Given the description of an element on the screen output the (x, y) to click on. 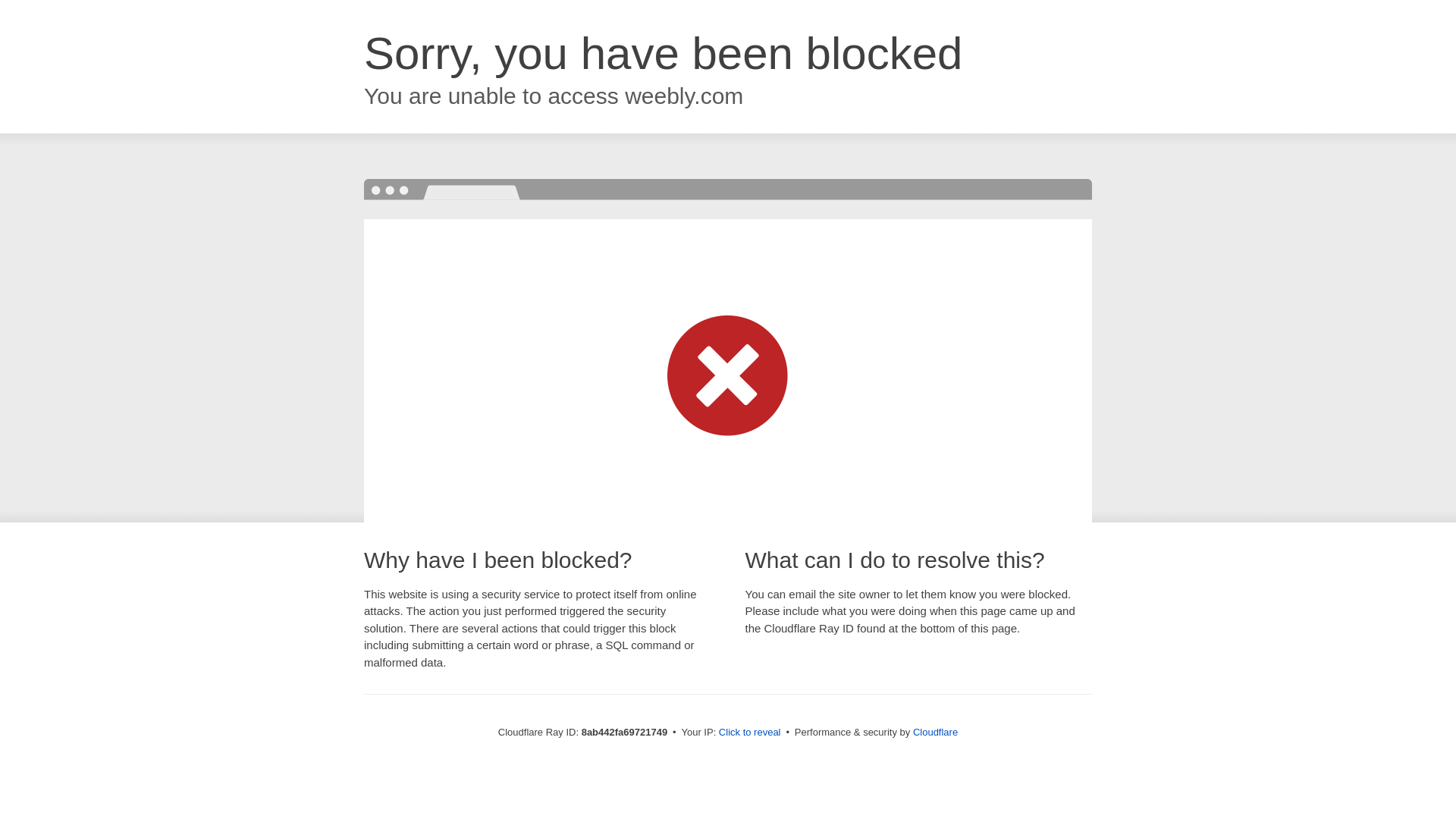
Cloudflare (935, 731)
Click to reveal (749, 732)
